Given the description of an element on the screen output the (x, y) to click on. 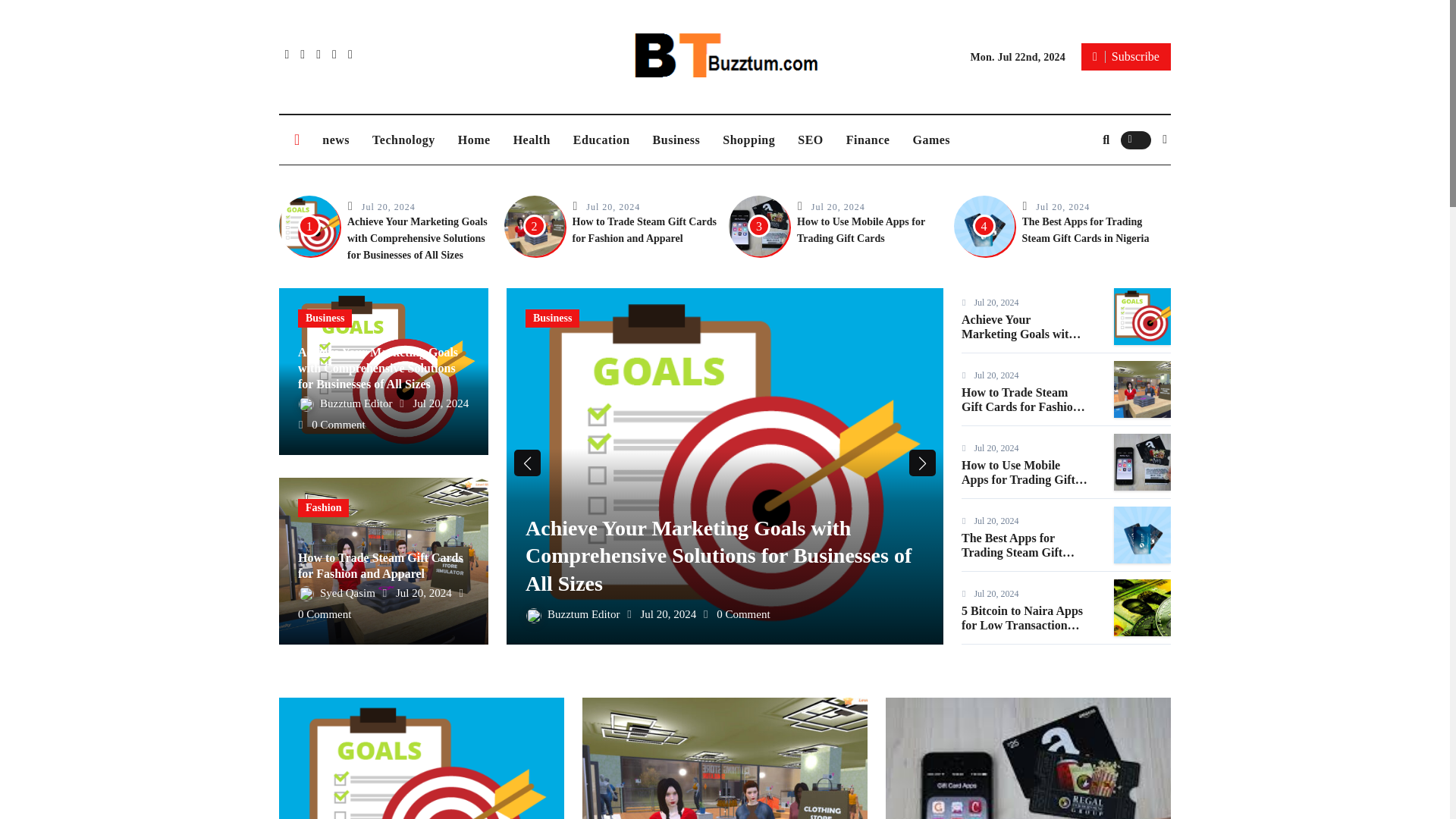
Finance (867, 139)
Home (474, 139)
Games (930, 139)
Technology (403, 139)
news (336, 139)
Games (930, 139)
Business (676, 139)
Jul 20, 2024 (1062, 206)
Business (325, 318)
Education (602, 139)
Technology (403, 139)
SEO (810, 139)
SEO (810, 139)
The Best Apps for Trading Steam Gift Cards in Nigeria (1086, 230)
